Given the description of an element on the screen output the (x, y) to click on. 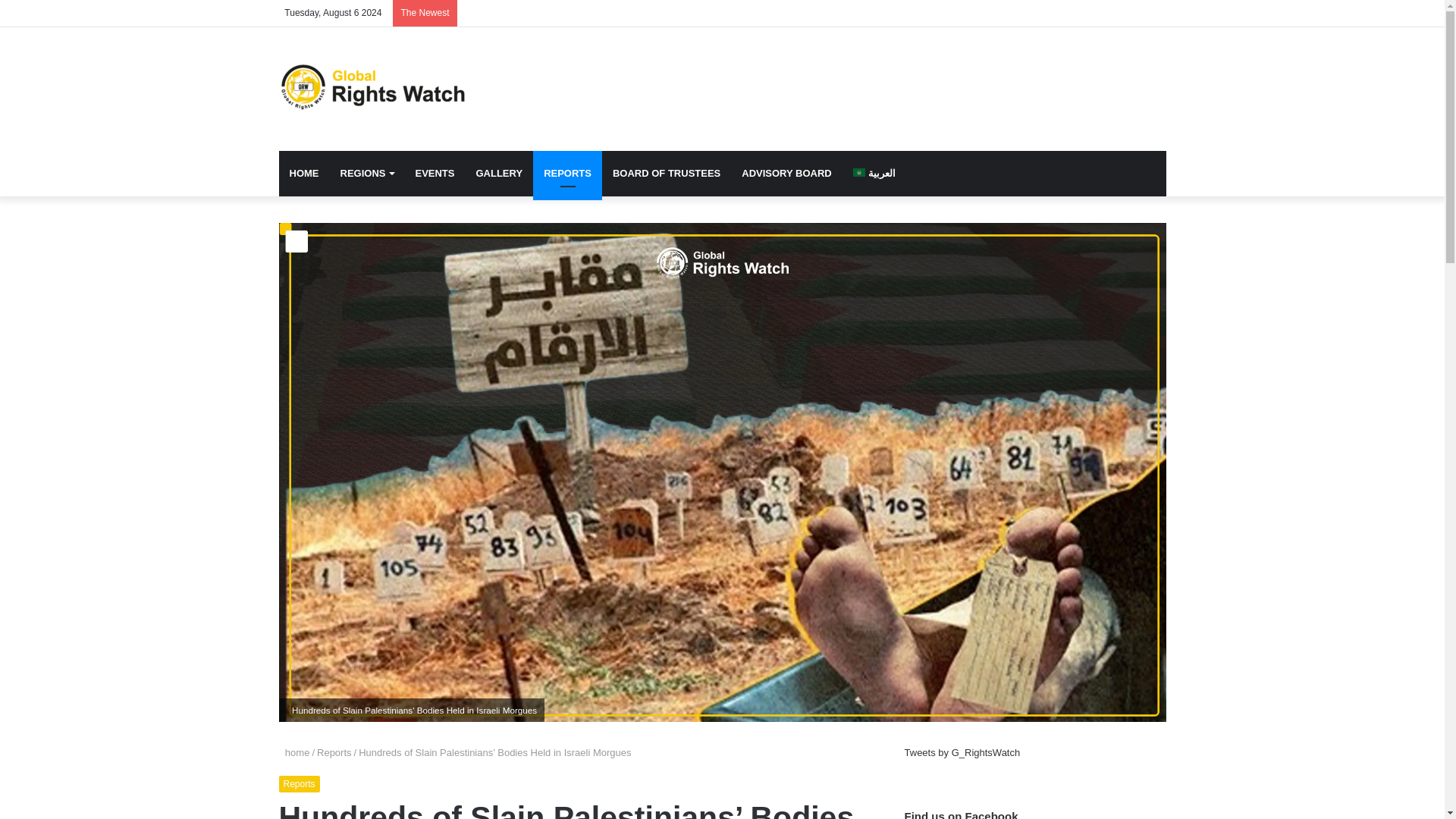
EVENTS (434, 173)
GALLERY (498, 173)
HOME (304, 173)
REGIONS (366, 173)
Reports (334, 752)
ADVISORY BOARD (785, 173)
BOARD OF TRUSTEES (666, 173)
REPORTS (567, 173)
GRWATCH (372, 88)
home (294, 752)
